Given the description of an element on the screen output the (x, y) to click on. 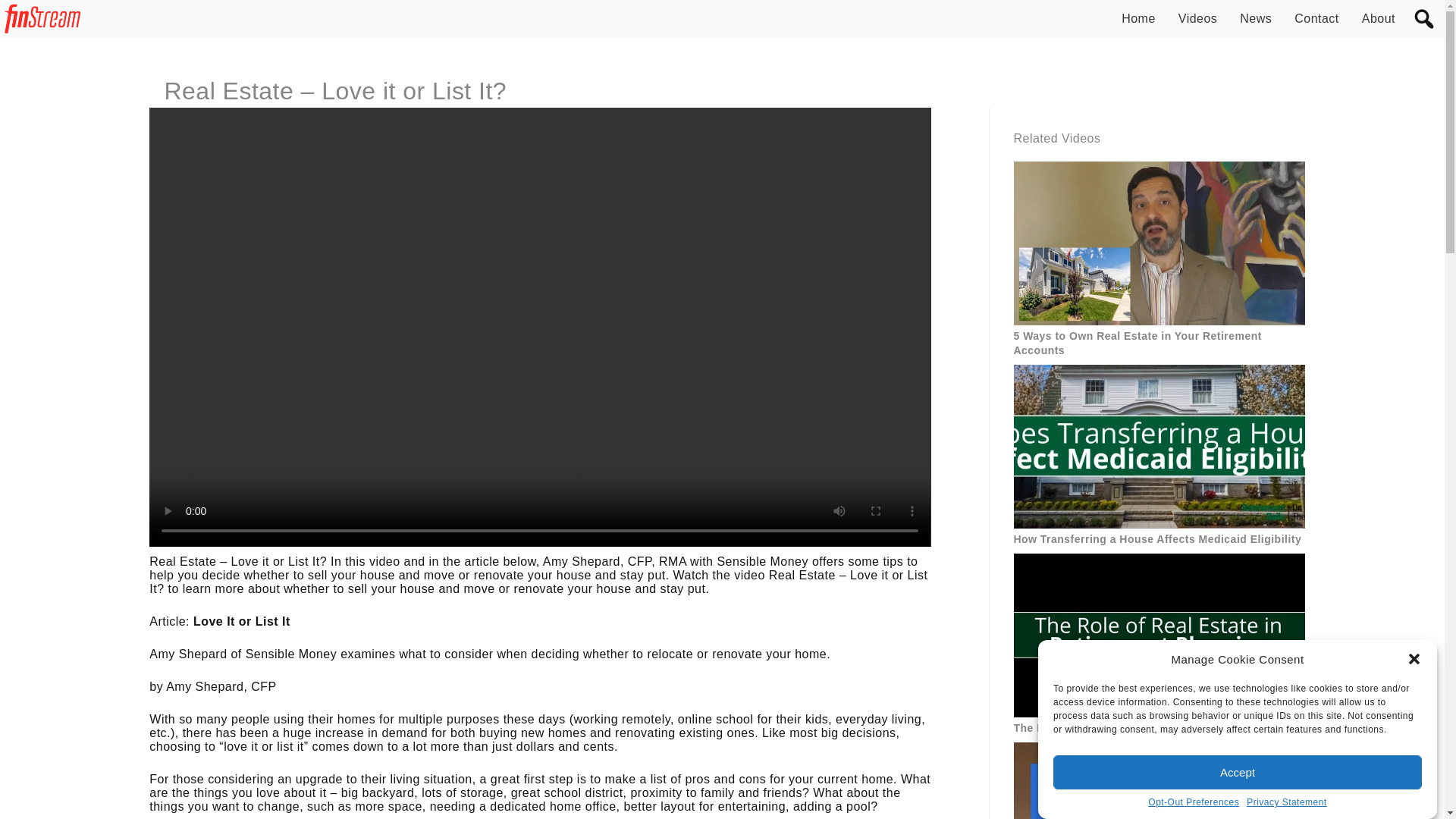
Videos (1197, 18)
News (1255, 18)
About (1377, 18)
Home (1138, 18)
Contact (1316, 18)
5 Ways to Own Real Estate in Your Retirement Accounts (1158, 342)
Privacy Statement (1286, 806)
Opt-Out Preferences (1193, 811)
